Given the description of an element on the screen output the (x, y) to click on. 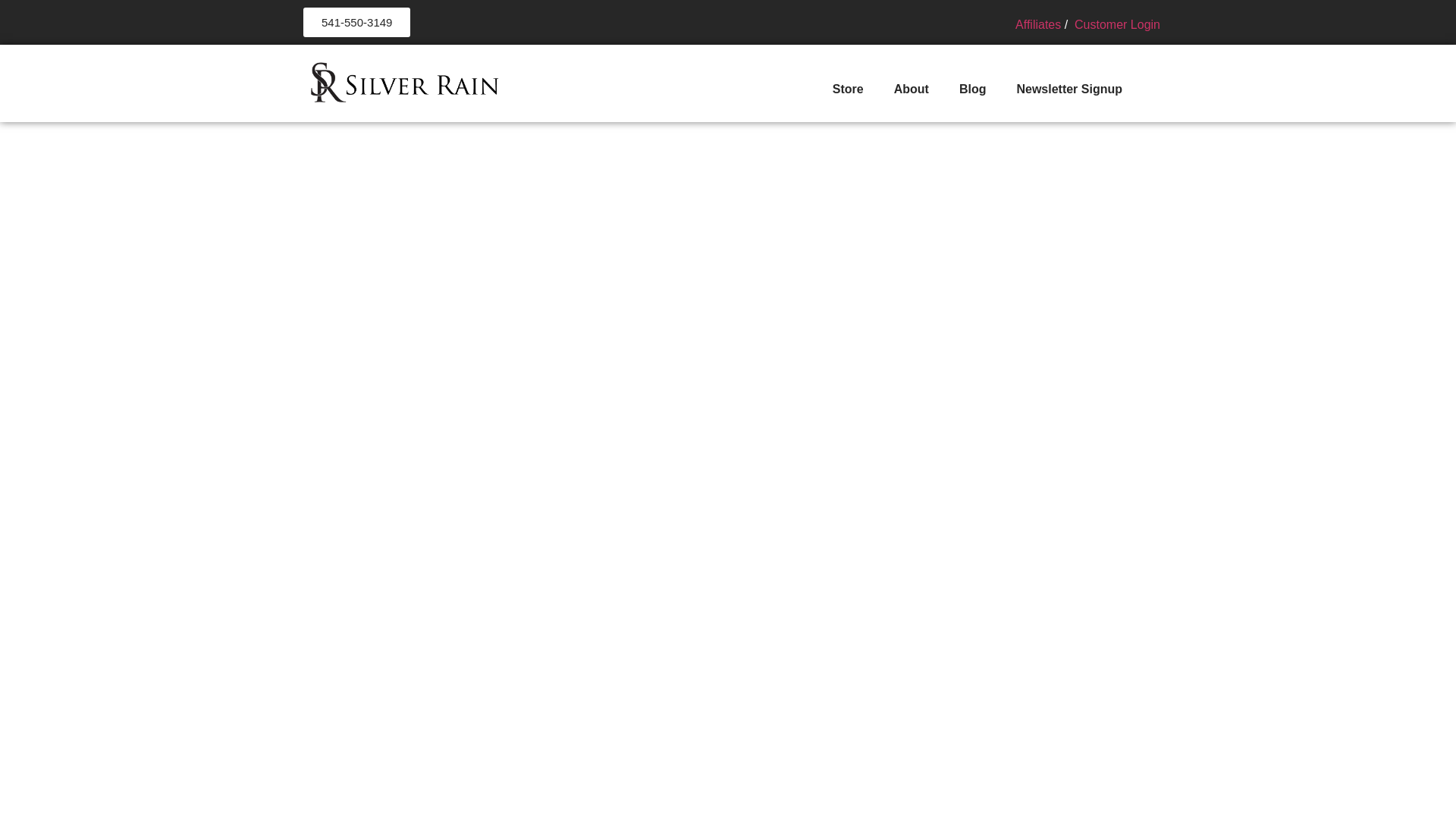
Blog (972, 89)
 Customer Login (1115, 24)
About (911, 89)
Newsletter Signup (1069, 89)
541-550-3149 (356, 21)
Store (847, 89)
Affiliates (1037, 24)
